Given the description of an element on the screen output the (x, y) to click on. 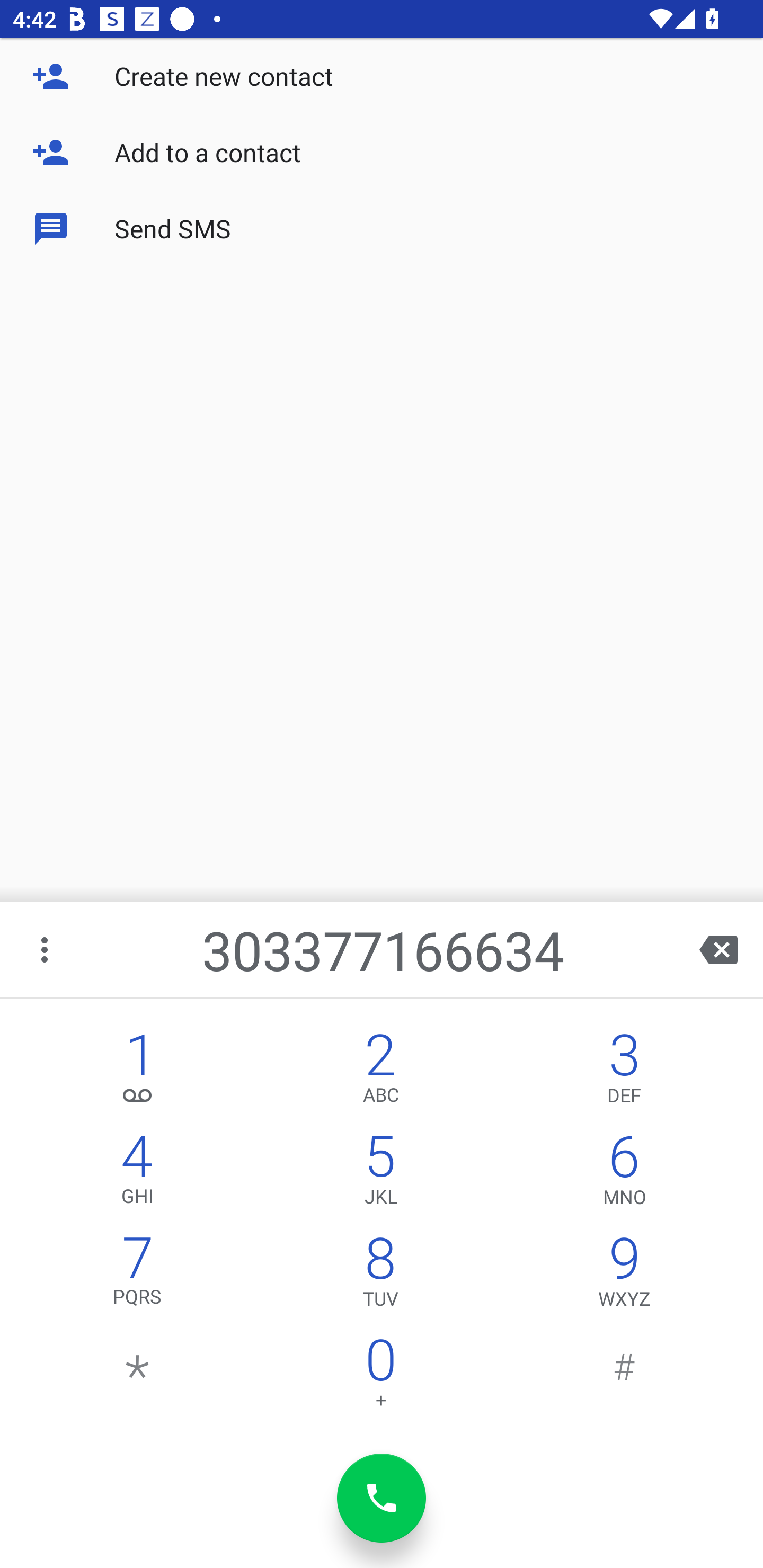
Create new contact (381, 75)
Add to a contact (381, 152)
Send SMS (381, 228)
303377166634 (382, 949)
backspace (718, 949)
More options (45, 949)
1, 1 (137, 1071)
2,ABC 2 ABC (380, 1071)
3,DEF 3 DEF (624, 1071)
4,GHI 4 GHI (137, 1173)
5,JKL 5 JKL (380, 1173)
6,MNO 6 MNO (624, 1173)
7,PQRS 7 PQRS (137, 1275)
8,TUV 8 TUV (380, 1275)
9,WXYZ 9 WXYZ (624, 1275)
* (137, 1377)
0 0 + (380, 1377)
# (624, 1377)
dial (381, 1497)
